Given the description of an element on the screen output the (x, y) to click on. 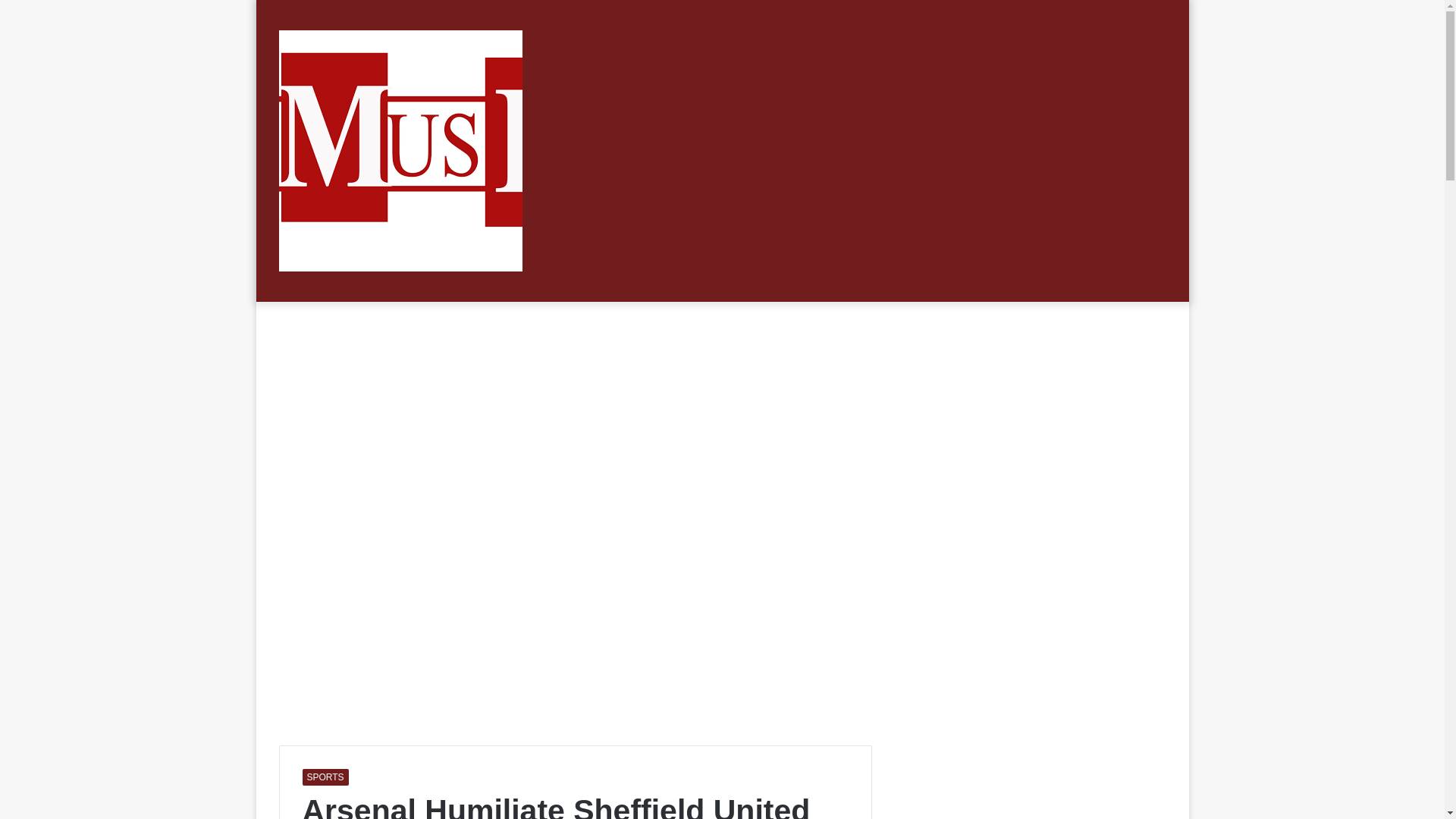
SPORTS (324, 777)
MusBizu (400, 150)
